Given the description of an element on the screen output the (x, y) to click on. 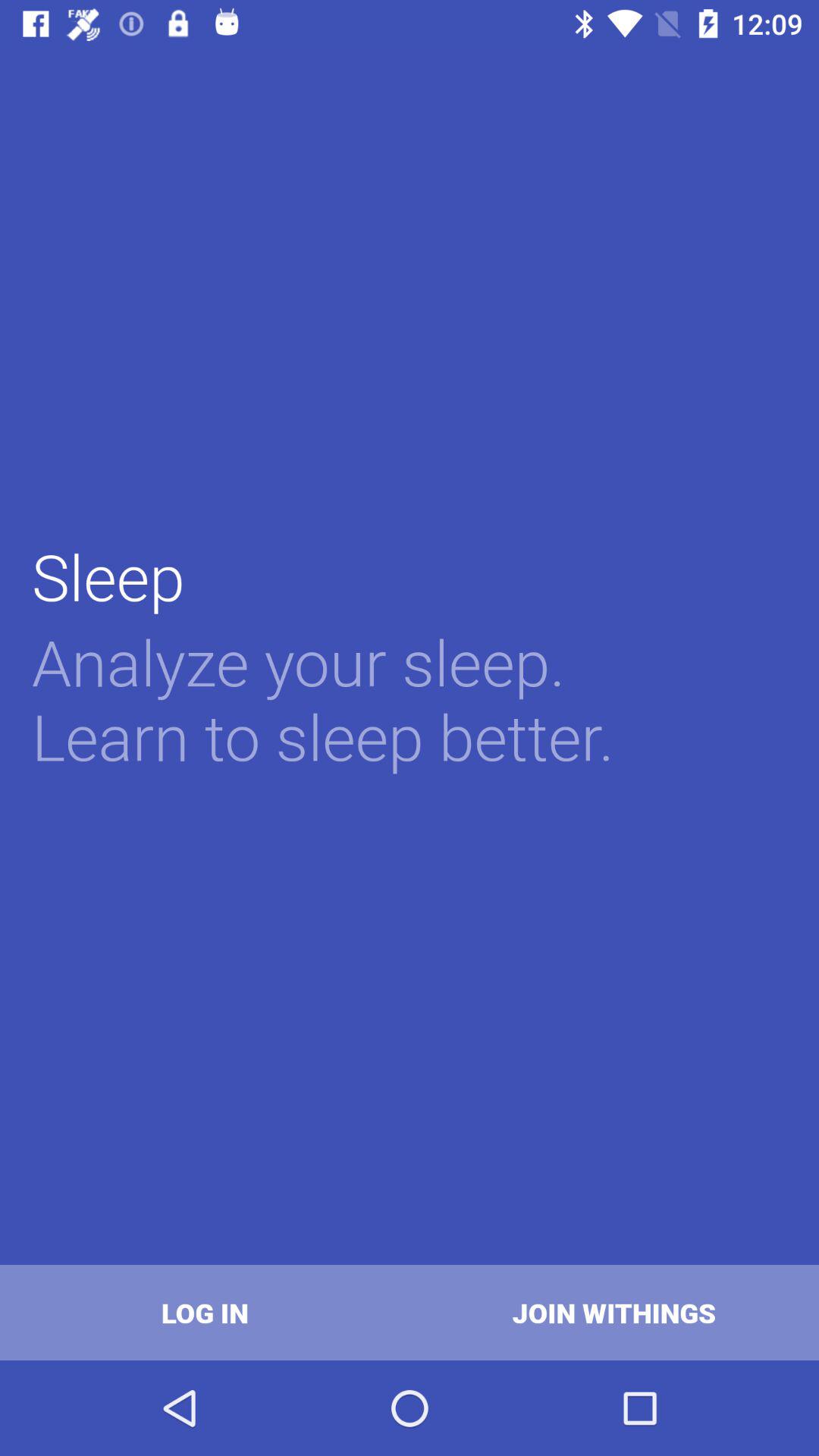
flip until the log in item (204, 1312)
